Given the description of an element on the screen output the (x, y) to click on. 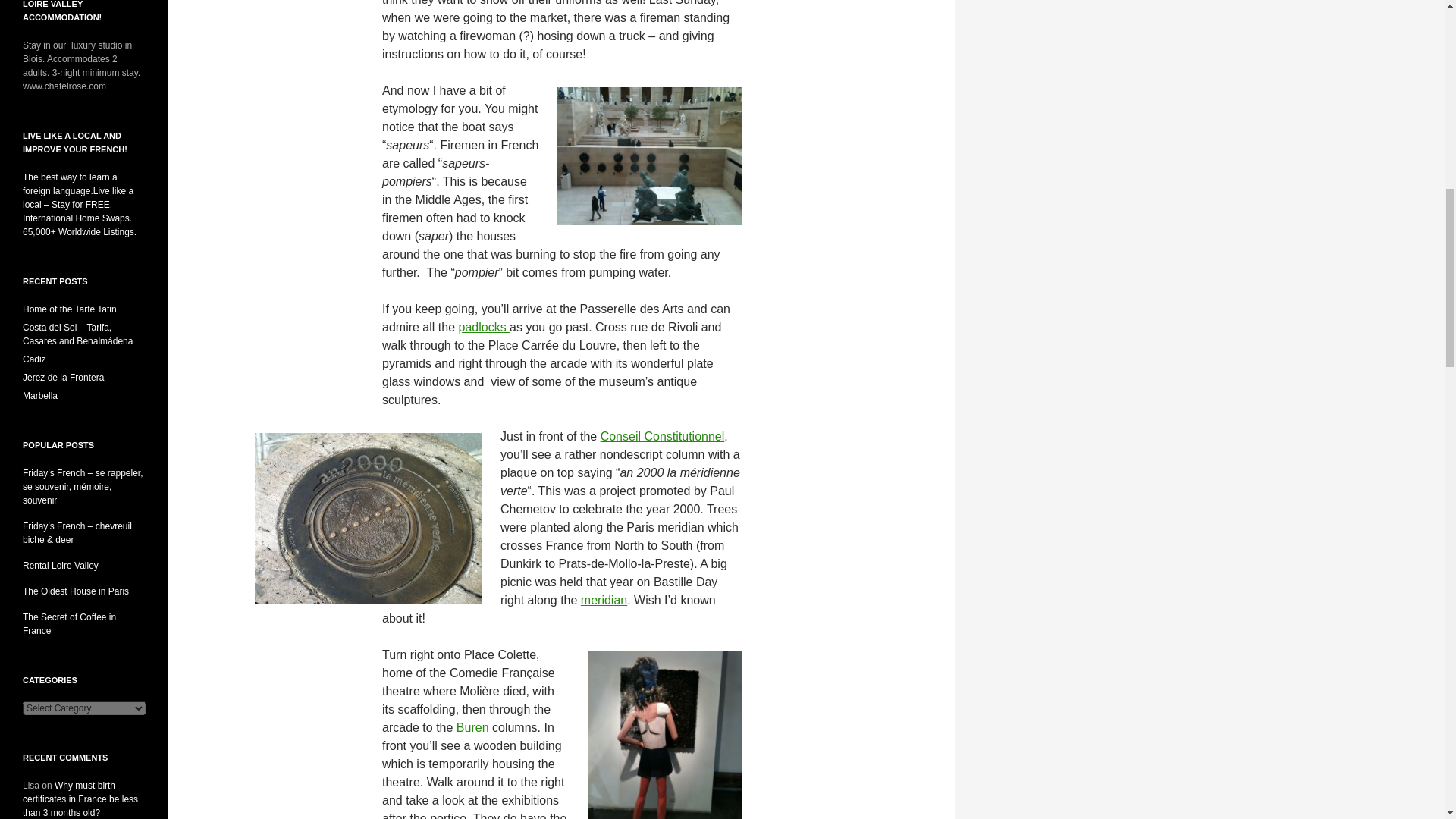
Padlocks on the Pont des Arts in Paris (483, 327)
Buren (473, 727)
Miss Bibi and the Palais Royal in Paris (603, 599)
Wolves in the Palais Royal (473, 727)
padlocks (483, 327)
Five Places to Lunch near the Louvre in Paris (662, 436)
meridian (603, 599)
Conseil Constitutionnel (662, 436)
